Given the description of an element on the screen output the (x, y) to click on. 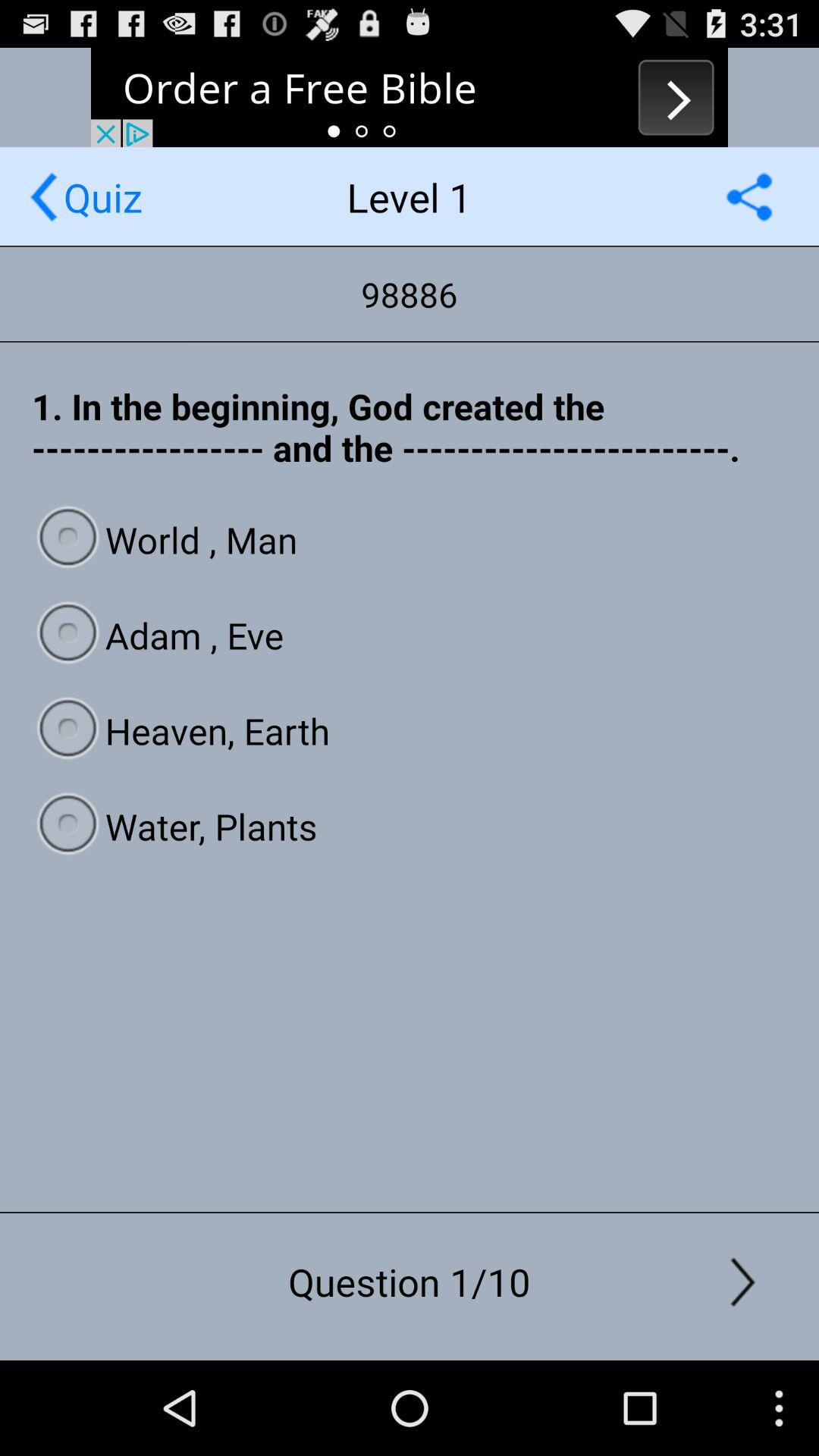
go back (43, 196)
